Given the description of an element on the screen output the (x, y) to click on. 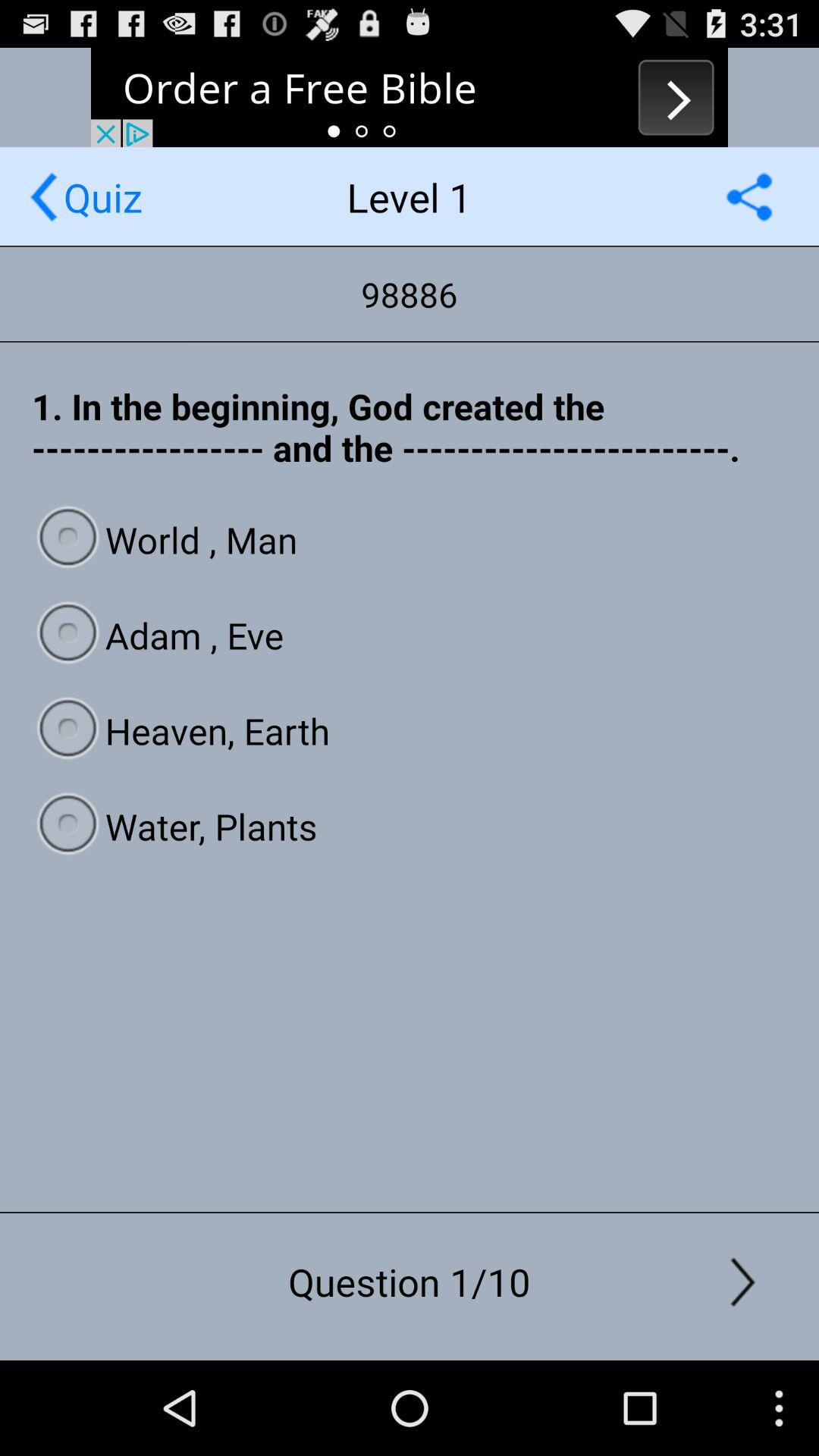
go back (43, 196)
